Given the description of an element on the screen output the (x, y) to click on. 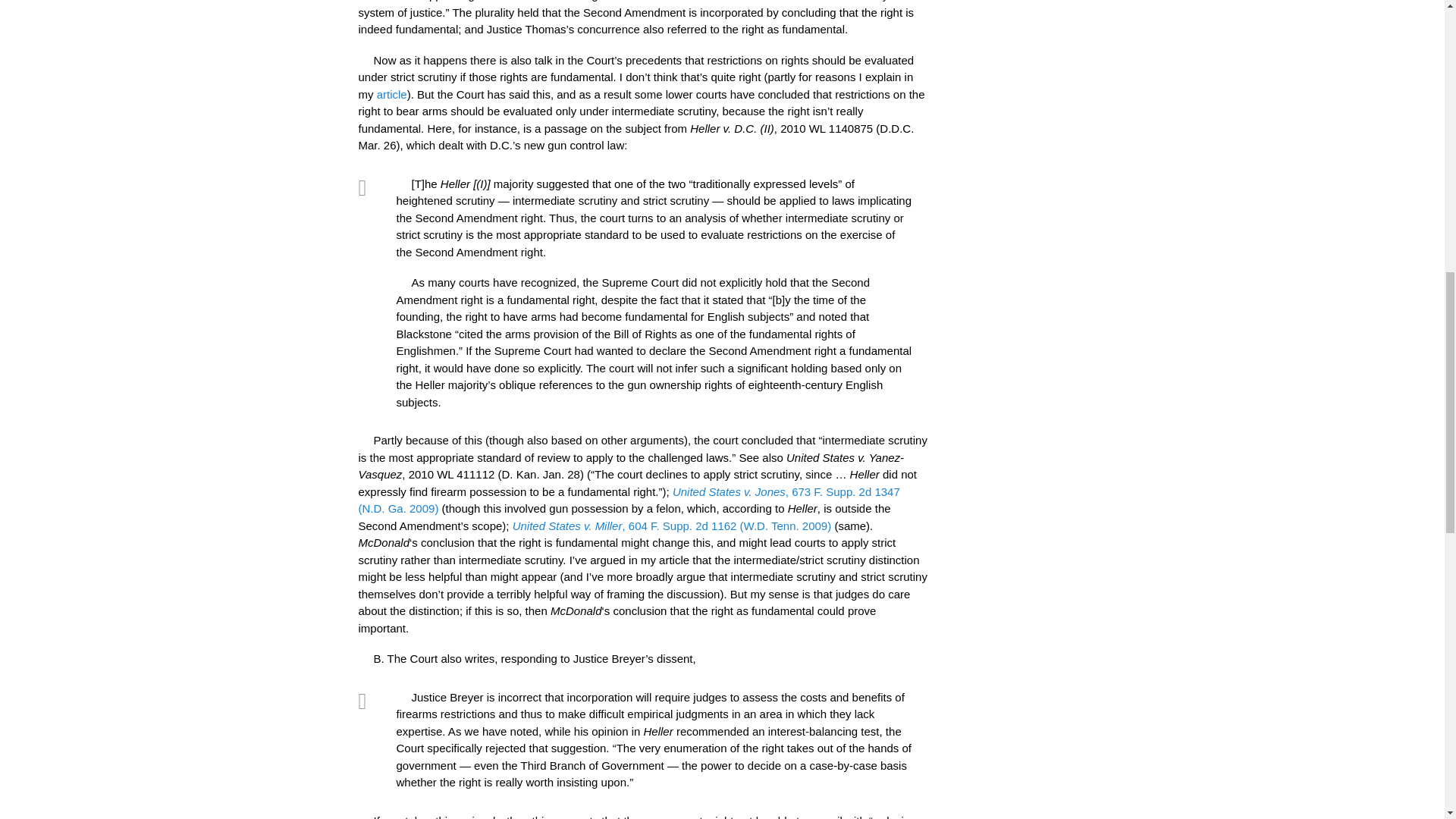
article (392, 93)
